Given the description of an element on the screen output the (x, y) to click on. 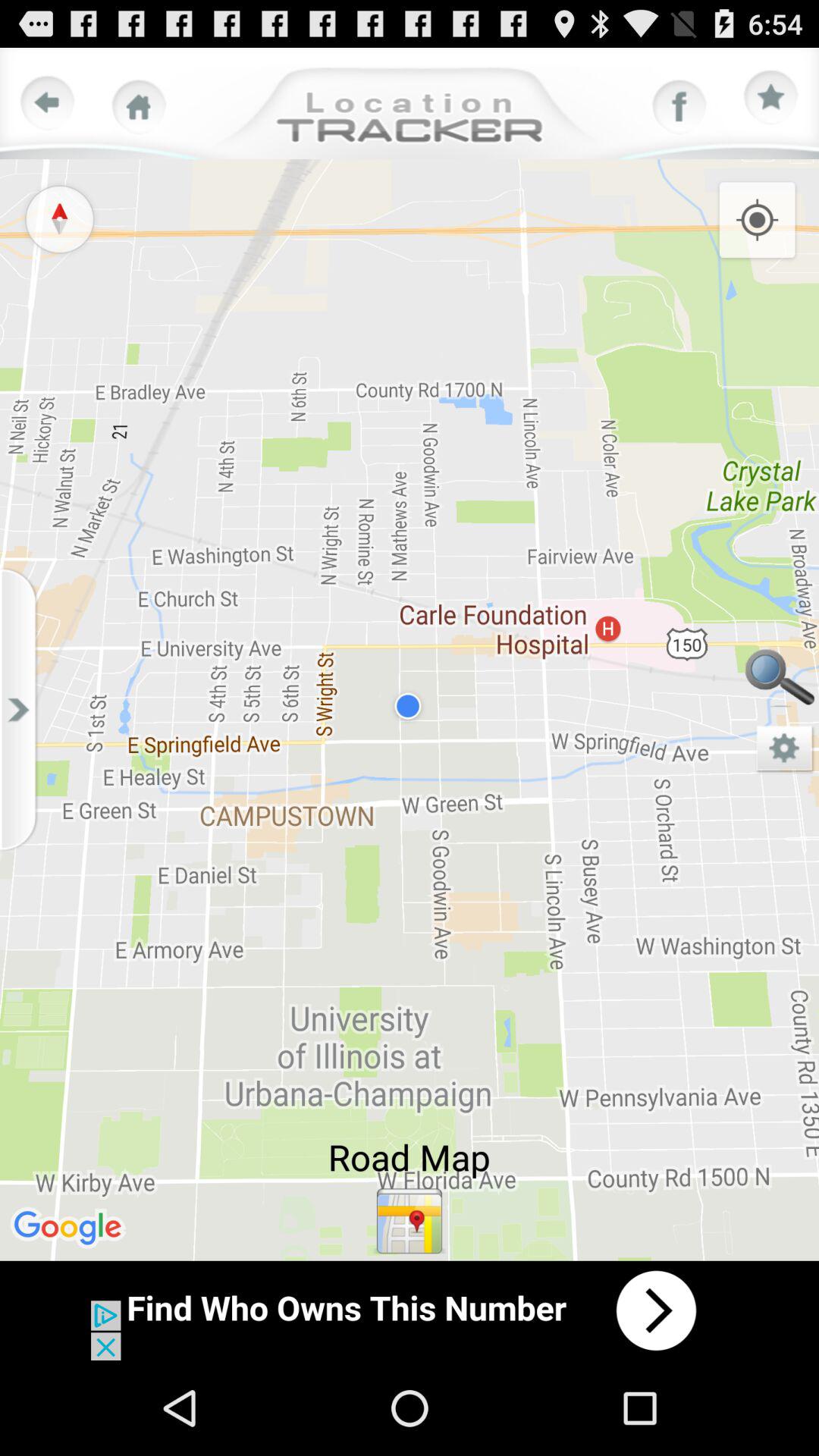
slidebar option (23, 709)
